Given the description of an element on the screen output the (x, y) to click on. 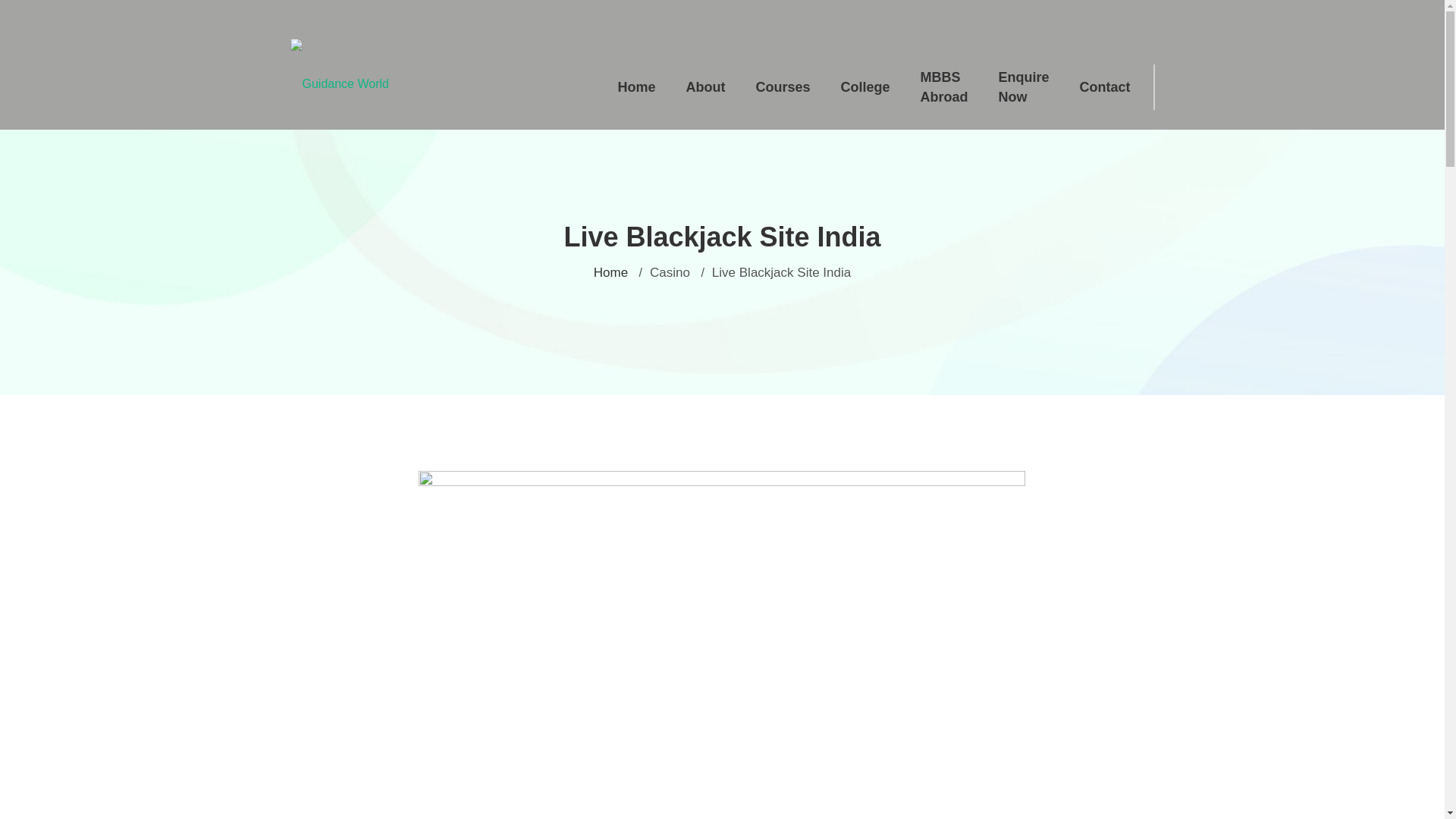
Contact (1104, 86)
Home (610, 272)
MBBS Abroad (943, 86)
Home (635, 86)
College (864, 86)
About (704, 86)
Enquire Now (1023, 86)
Courses (782, 86)
